Given the description of an element on the screen output the (x, y) to click on. 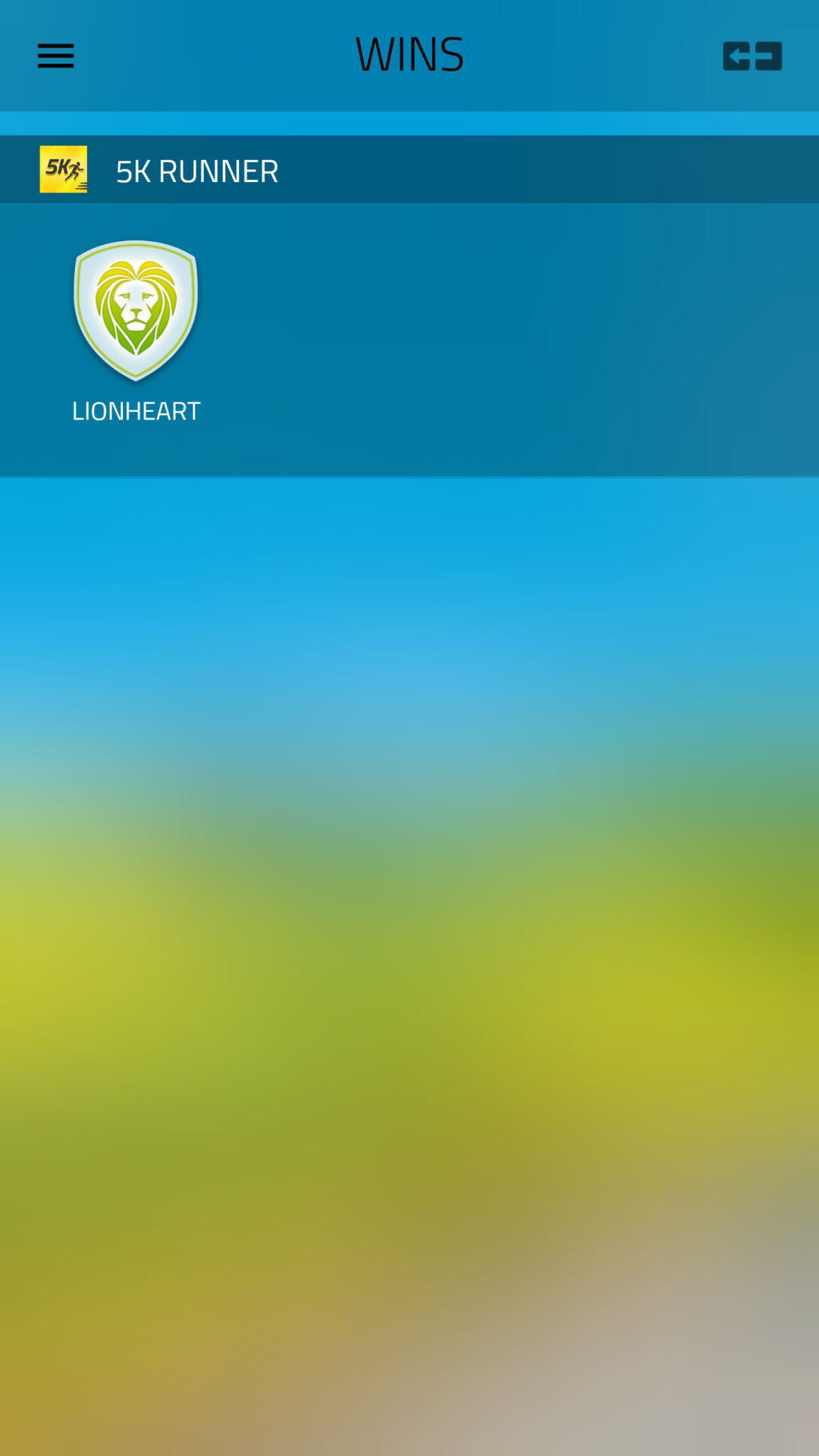
press the lionheart
 item (135, 422)
